Given the description of an element on the screen output the (x, y) to click on. 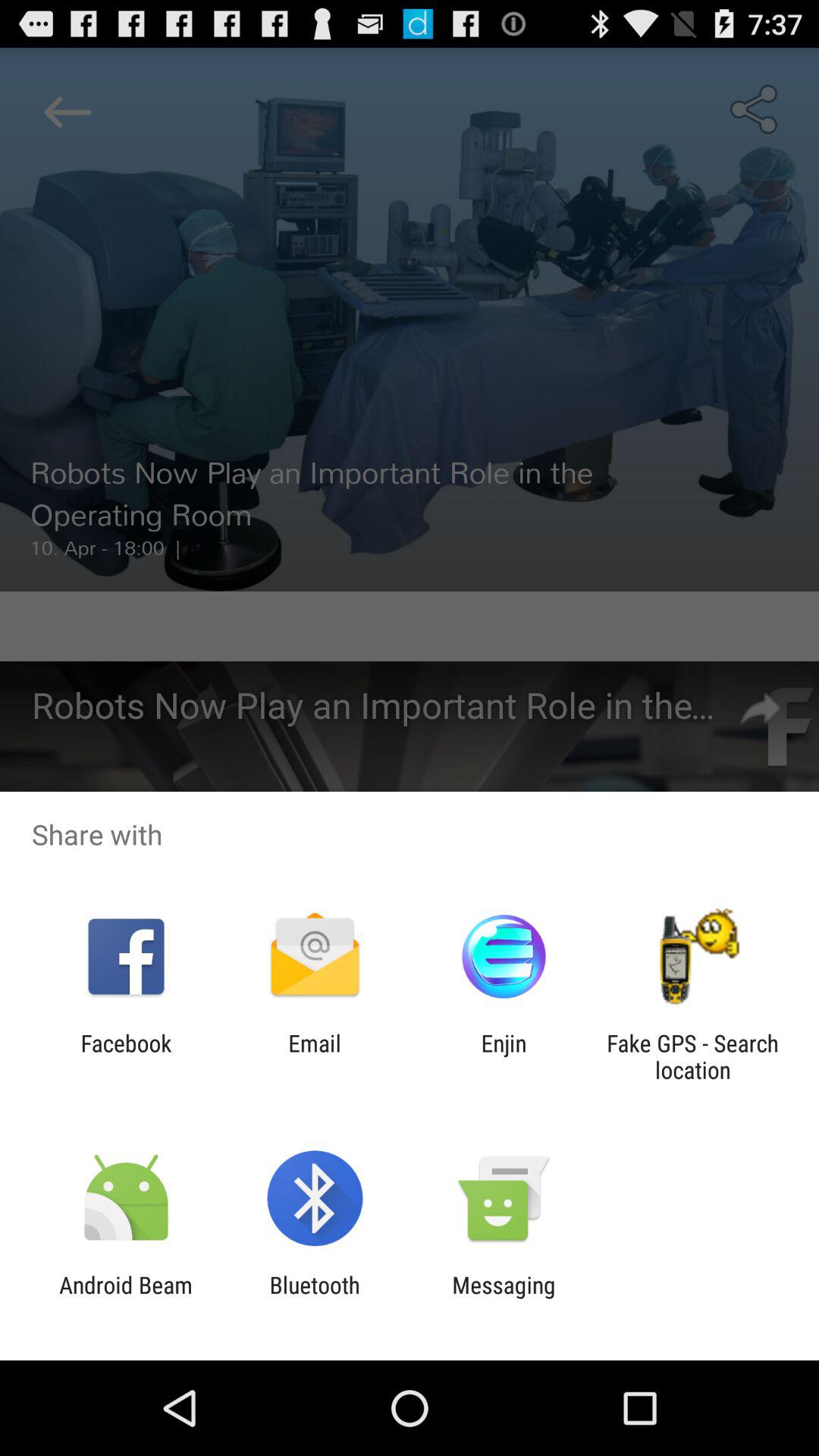
choose the fake gps search app (692, 1056)
